Given the description of an element on the screen output the (x, y) to click on. 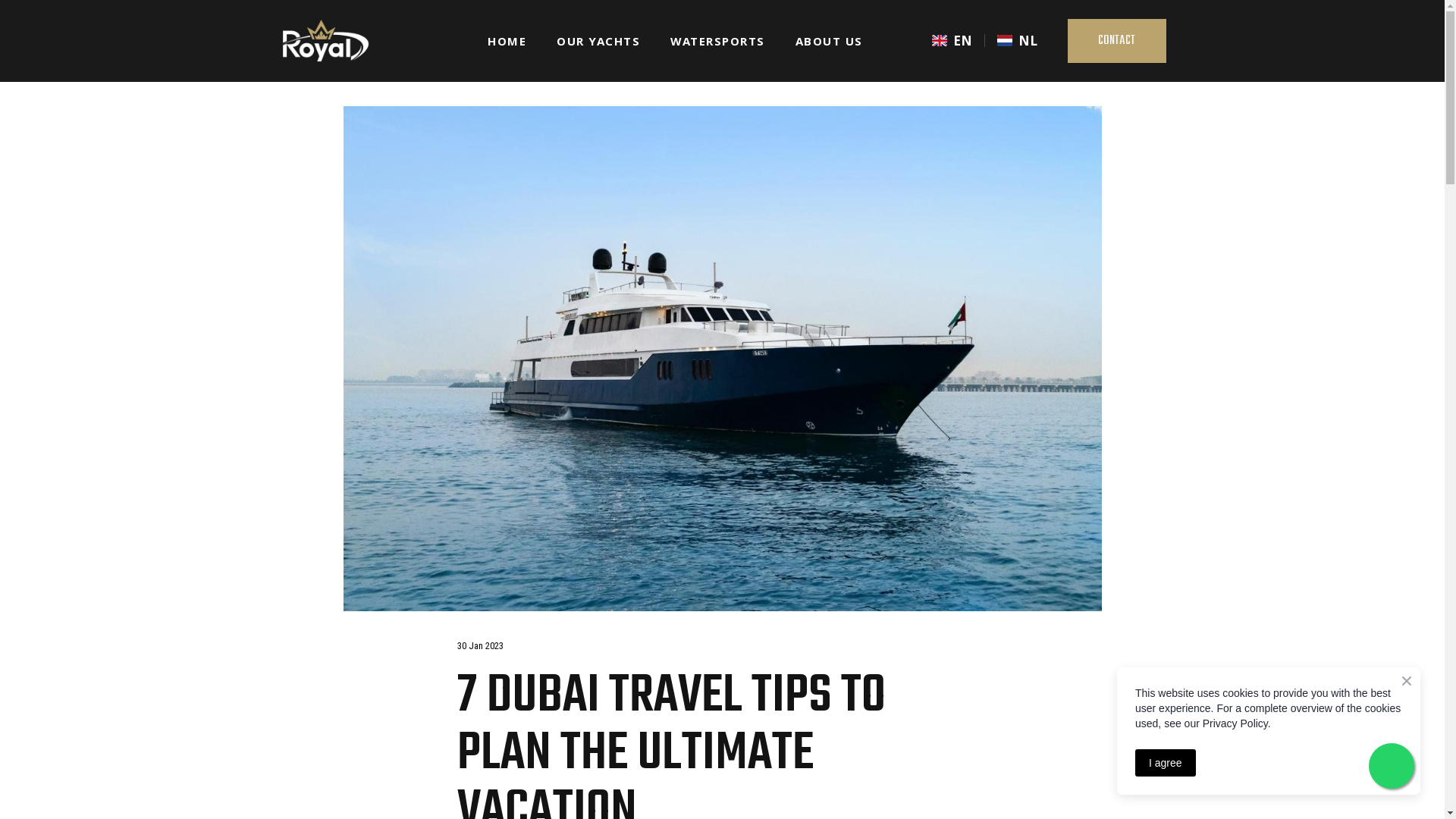
WATERSPORTS (717, 40)
NL (1016, 40)
HOME (506, 40)
OUR YACHTS (598, 40)
ABOUT US (828, 40)
CONTACT (1116, 40)
